Given the description of an element on the screen output the (x, y) to click on. 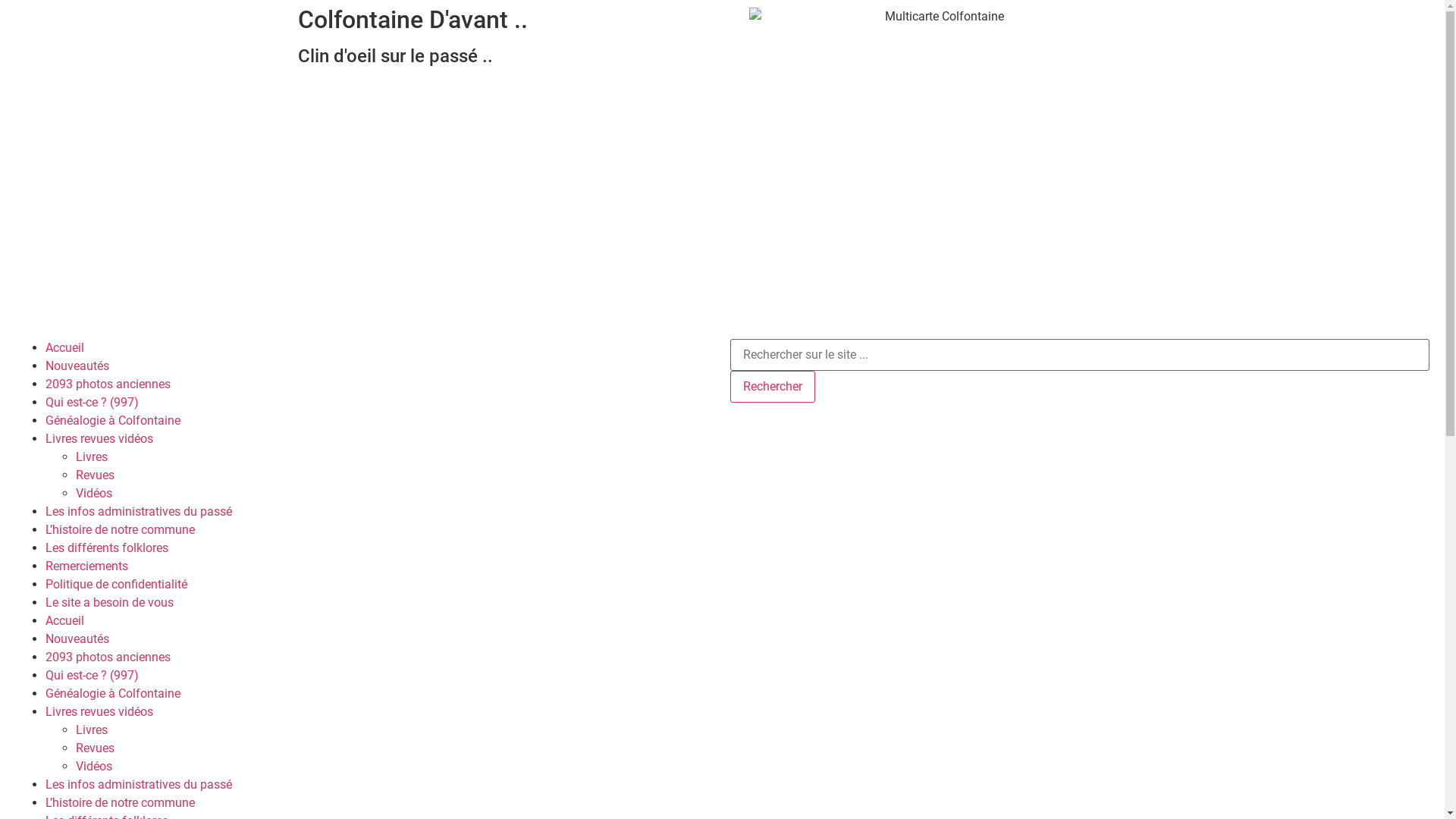
Qui est-ce ? (997) Element type: text (91, 675)
Le site a besoin de vous Element type: text (109, 602)
2093 photos anciennes Element type: text (107, 383)
Remerciements Element type: text (86, 565)
Rechercher Element type: text (771, 386)
Livres Element type: text (91, 729)
Revues Element type: text (94, 474)
Livres Element type: text (91, 456)
2093 photos anciennes Element type: text (107, 656)
Accueil Element type: text (64, 347)
Accueil Element type: text (64, 620)
Revues Element type: text (94, 747)
Qui est-ce ? (997) Element type: text (91, 402)
Colfontaine D'avant .. Element type: text (412, 19)
